Given the description of an element on the screen output the (x, y) to click on. 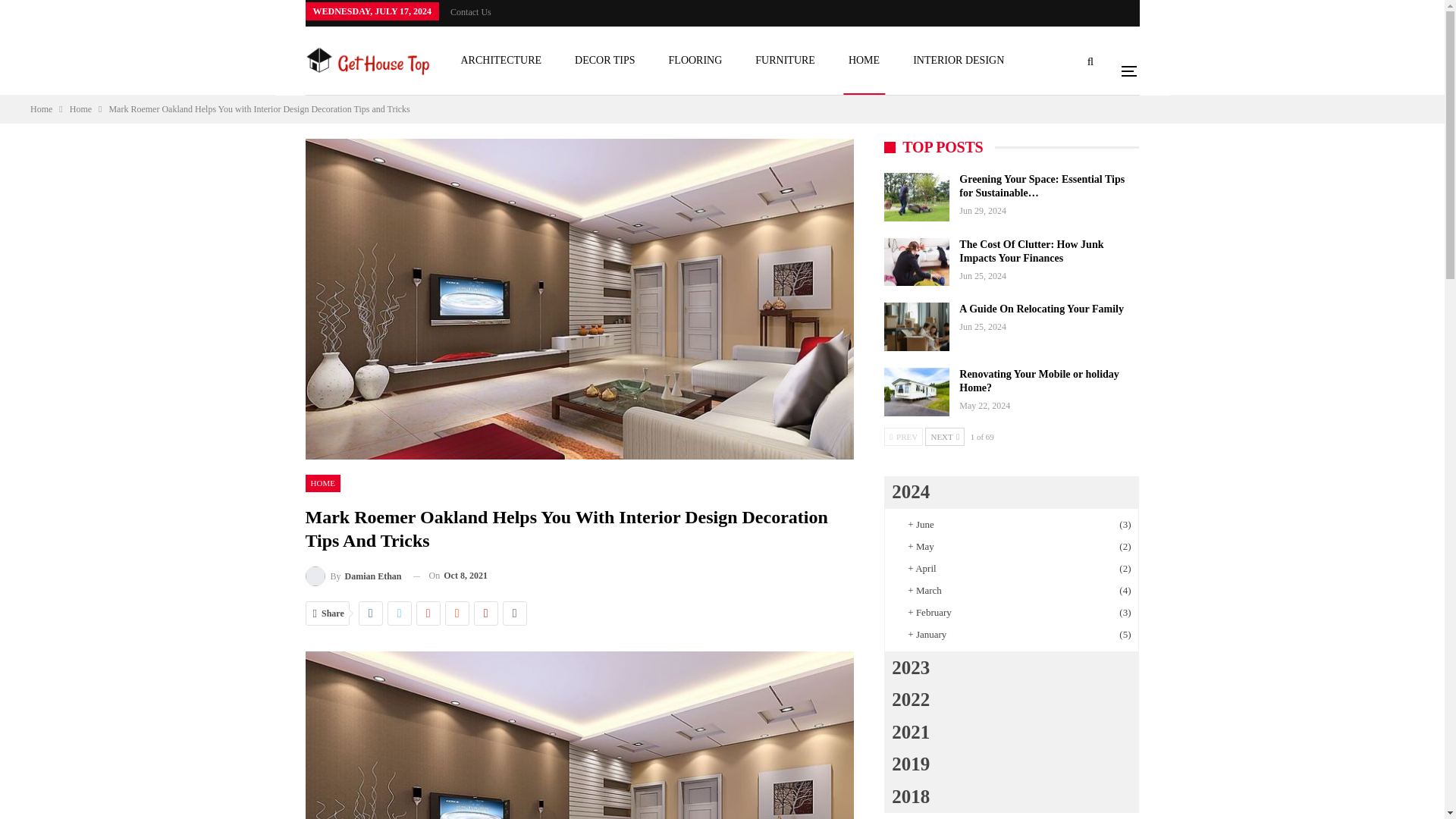
HOME (321, 483)
Contact Us (470, 11)
DECOR TIPS (604, 60)
Browse Author Articles (352, 575)
INTERIOR DESIGN (958, 60)
ARCHITECTURE (500, 60)
The Cost Of Clutter: How Junk Impacts Your Finances (916, 262)
By Damian Ethan (352, 575)
A Guide On Relocating Your Family (916, 326)
Home (41, 108)
FLOORING (695, 60)
FURNITURE (785, 60)
Home (80, 108)
HOME (864, 60)
